Given the description of an element on the screen output the (x, y) to click on. 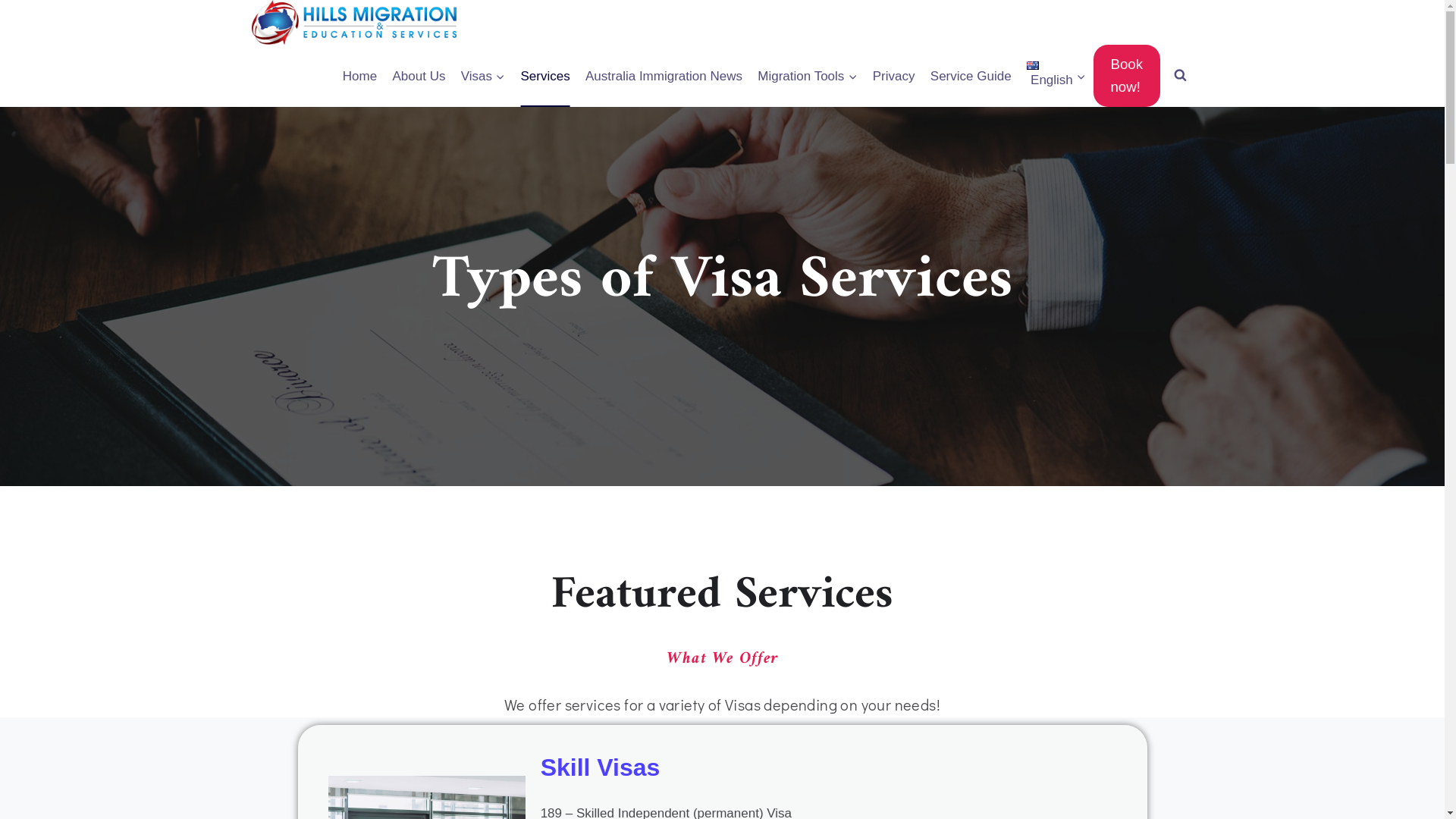
Services Element type: text (544, 75)
English Element type: text (1056, 75)
Australia Immigration News Element type: text (663, 75)
Book now! Element type: text (1126, 75)
Home Element type: text (360, 75)
About Us Element type: text (418, 75)
Migration Tools Element type: text (806, 75)
Visas Element type: text (483, 75)
Service Guide Element type: text (970, 75)
Privacy Element type: text (893, 75)
